Given the description of an element on the screen output the (x, y) to click on. 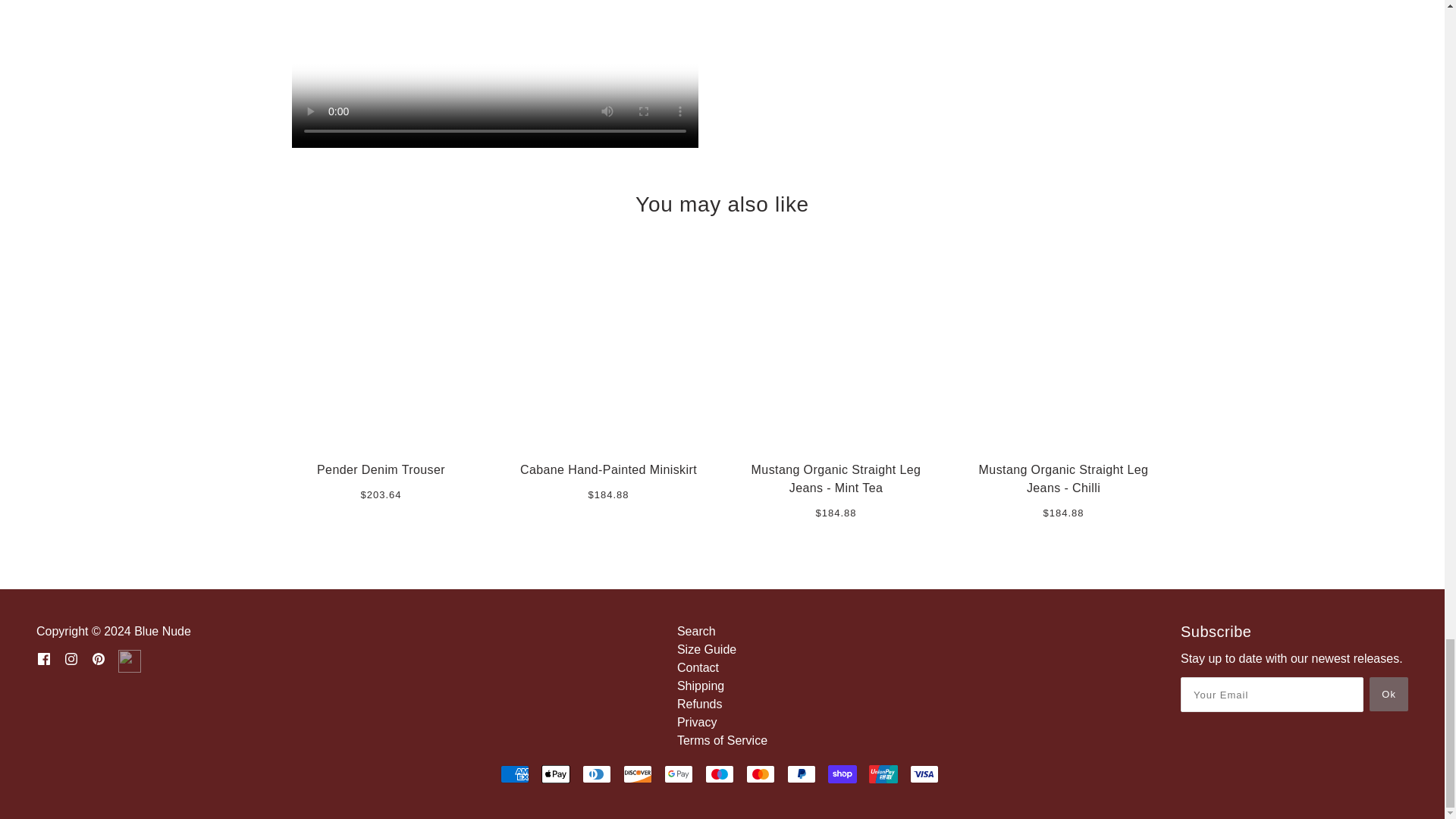
Union Pay (883, 773)
Mastercard (759, 773)
Privacy (696, 721)
Discover (637, 773)
Shipping (700, 685)
Size Guide (706, 649)
Apple Pay (555, 773)
Refunds (699, 703)
Visa (924, 773)
PayPal (801, 773)
